Given the description of an element on the screen output the (x, y) to click on. 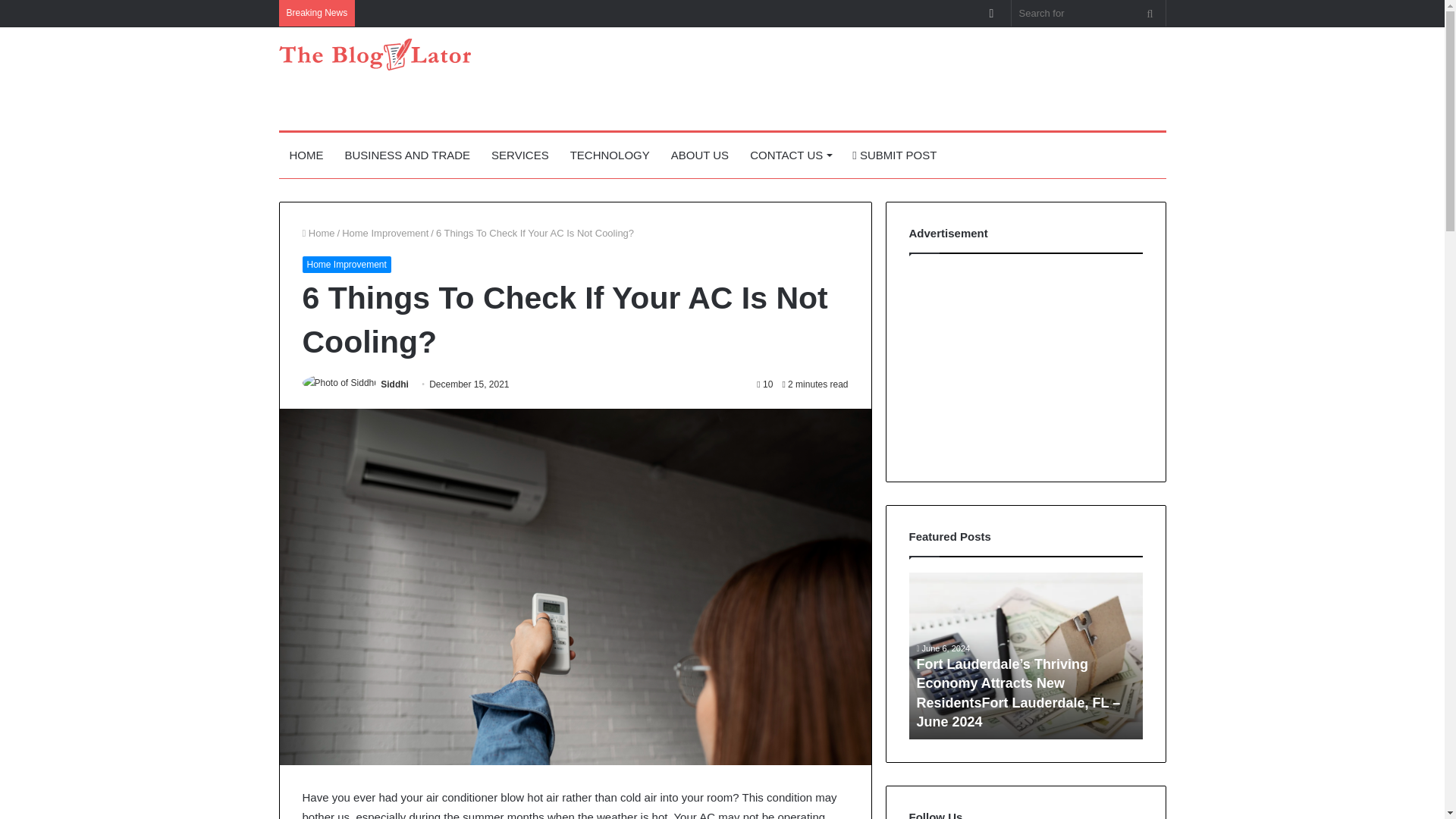
HOME (306, 155)
Home Improvement (385, 233)
Search for (1149, 13)
TECHNOLOGY (610, 155)
ABOUT US (700, 155)
The Blogulator (374, 54)
SERVICES (519, 155)
Random Article (991, 13)
Advertisement (873, 76)
Home (317, 233)
Siddhi (394, 384)
Siddhi (394, 384)
Home Improvement (345, 264)
Search for (1088, 13)
Random Article (991, 13)
